Given the description of an element on the screen output the (x, y) to click on. 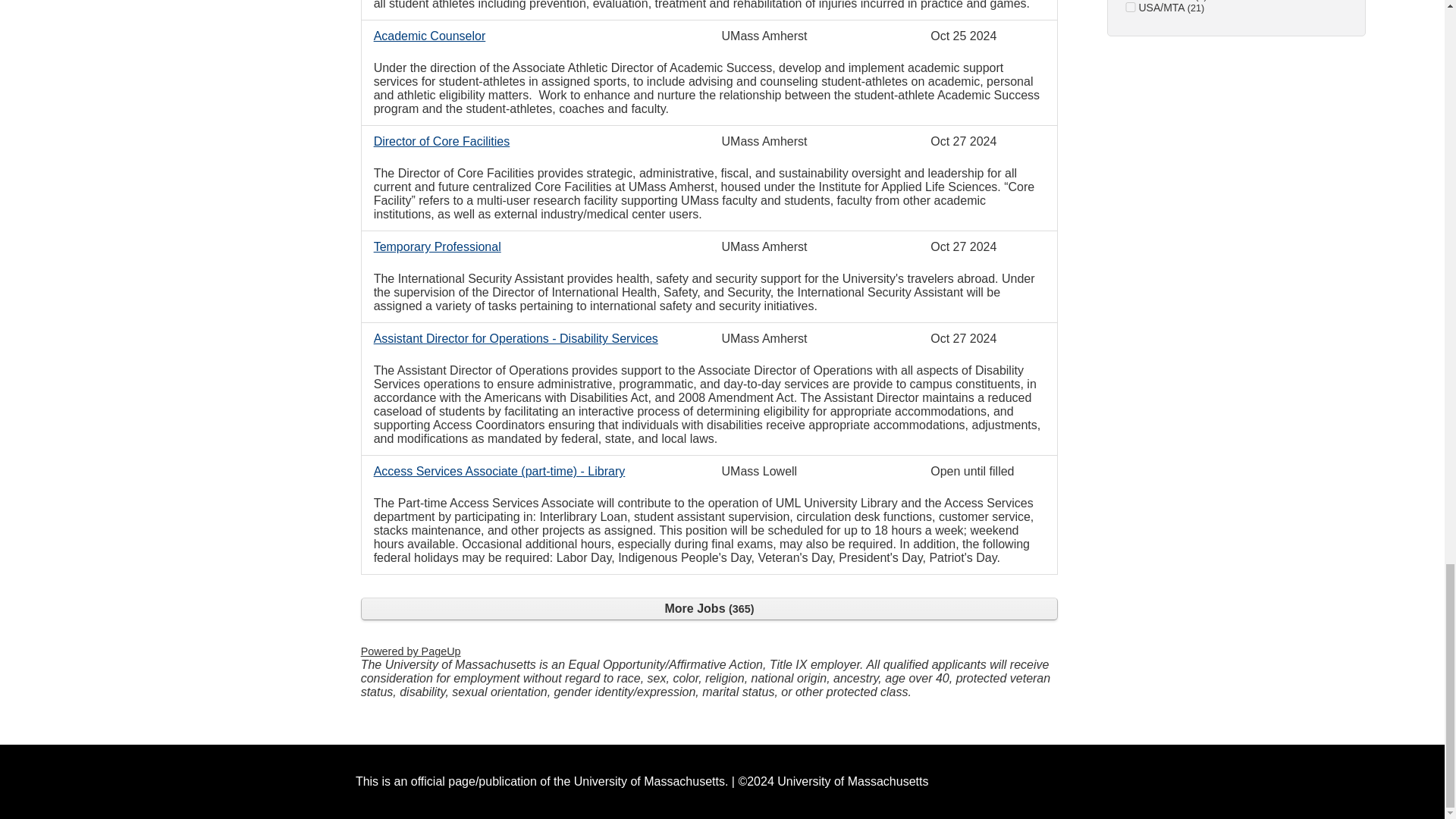
More Jobs (709, 608)
